Given the description of an element on the screen output the (x, y) to click on. 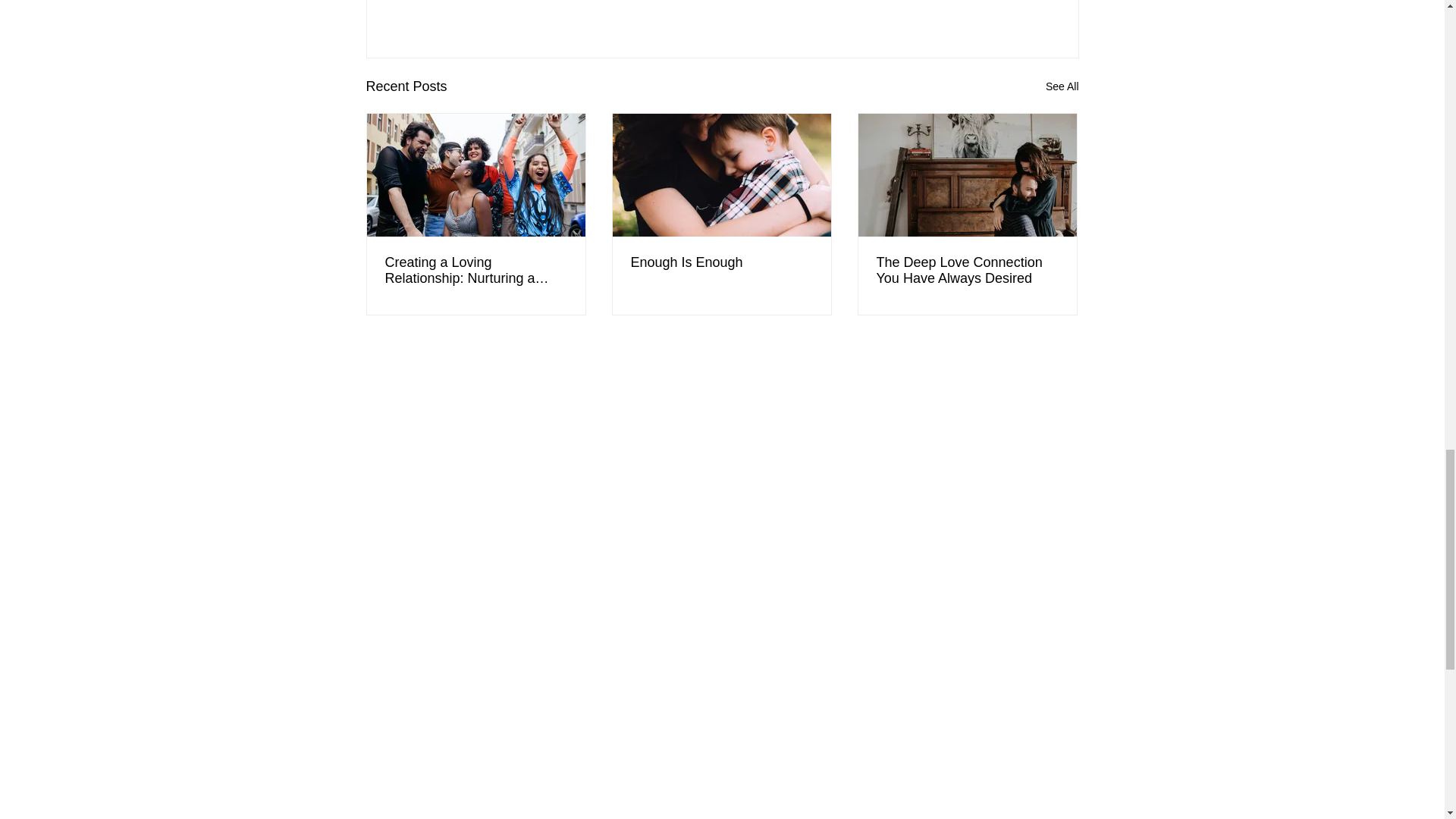
Enough Is Enough (721, 262)
The Deep Love Connection You Have Always Desired (967, 270)
See All (1061, 86)
